Given the description of an element on the screen output the (x, y) to click on. 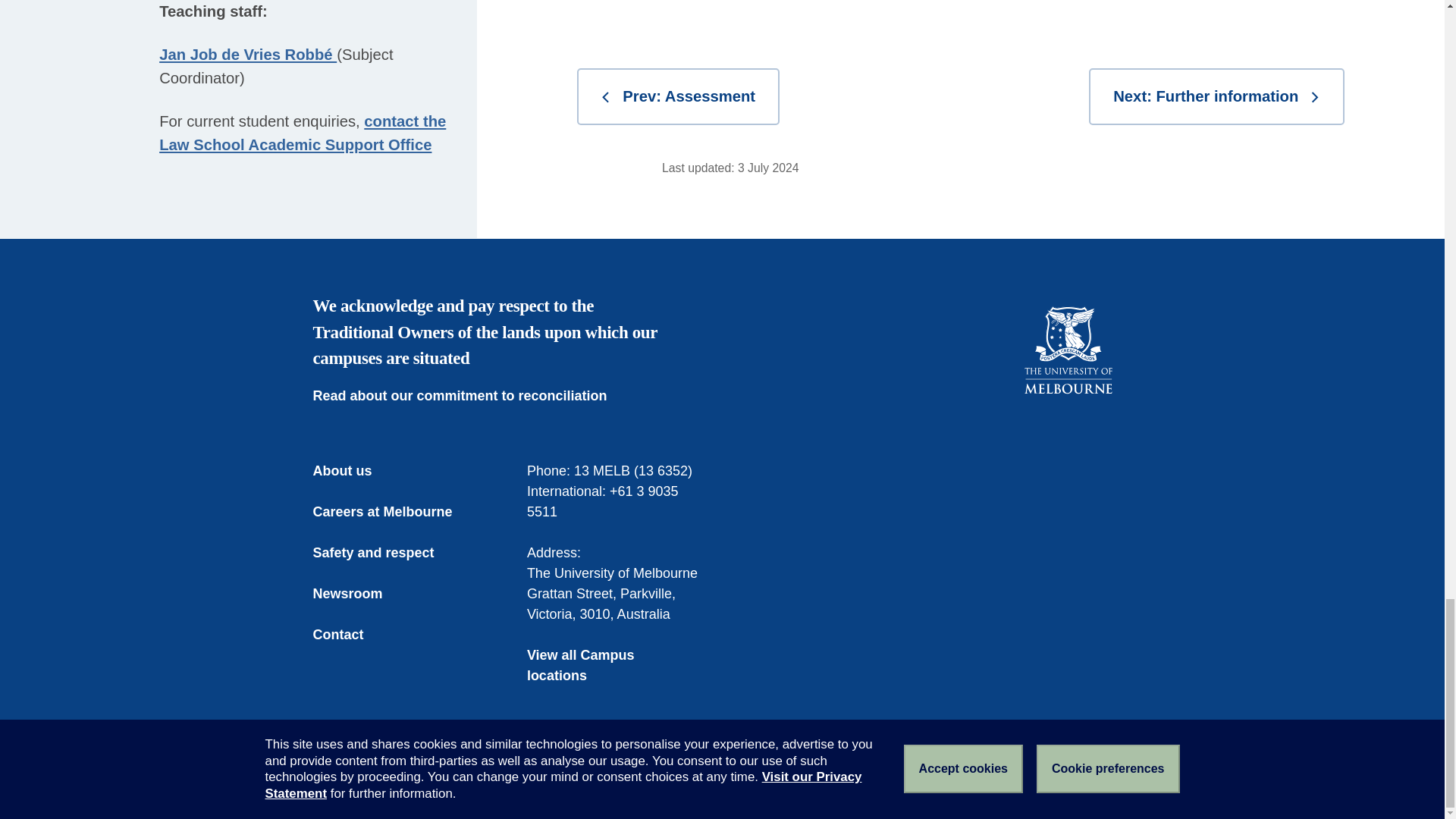
About us (353, 471)
Safety and respect (384, 552)
Contact (349, 634)
Emergency (345, 780)
Newsroom (358, 593)
Read about our commitment to reconciliation (470, 395)
View all Campus locations (615, 665)
Careers at Melbourne (393, 512)
Next: Further information (1216, 96)
Prev: Assessment (678, 96)
